Given the description of an element on the screen output the (x, y) to click on. 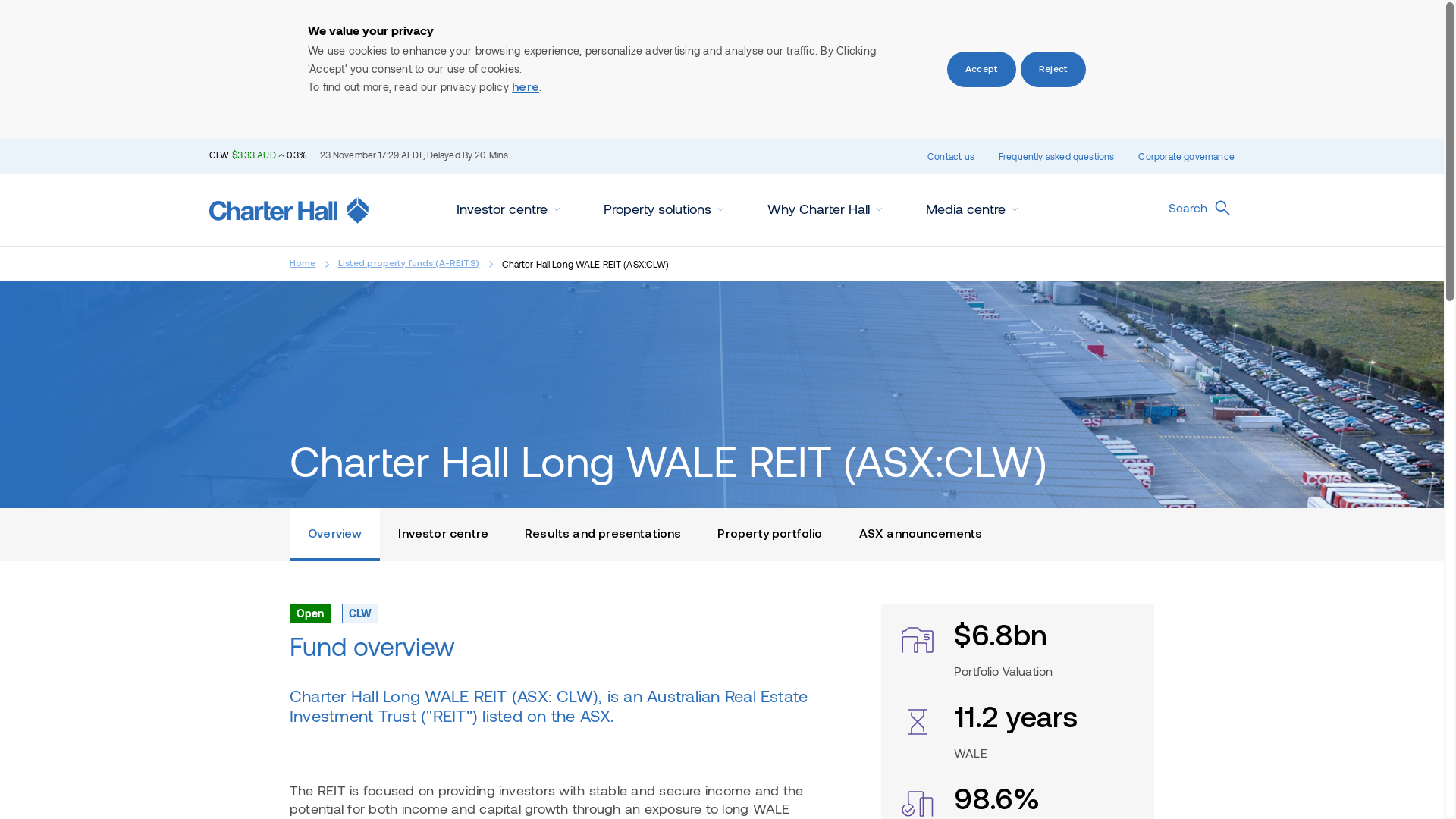
Home Element type: text (302, 263)
Corporate governance Element type: text (1186, 155)
Frequently asked questions Element type: text (1056, 155)
Contact us Element type: text (950, 155)
Accept Element type: text (981, 68)
Listed property funds (A-REITS) Element type: text (409, 263)
Investor centre Element type: text (442, 534)
here Element type: text (525, 87)
Property portfolio Element type: text (769, 534)
ASX announcements Element type: text (920, 534)
Reject Element type: text (1052, 68)
Results and presentations Element type: text (602, 534)
Overview Element type: text (334, 534)
